Given the description of an element on the screen output the (x, y) to click on. 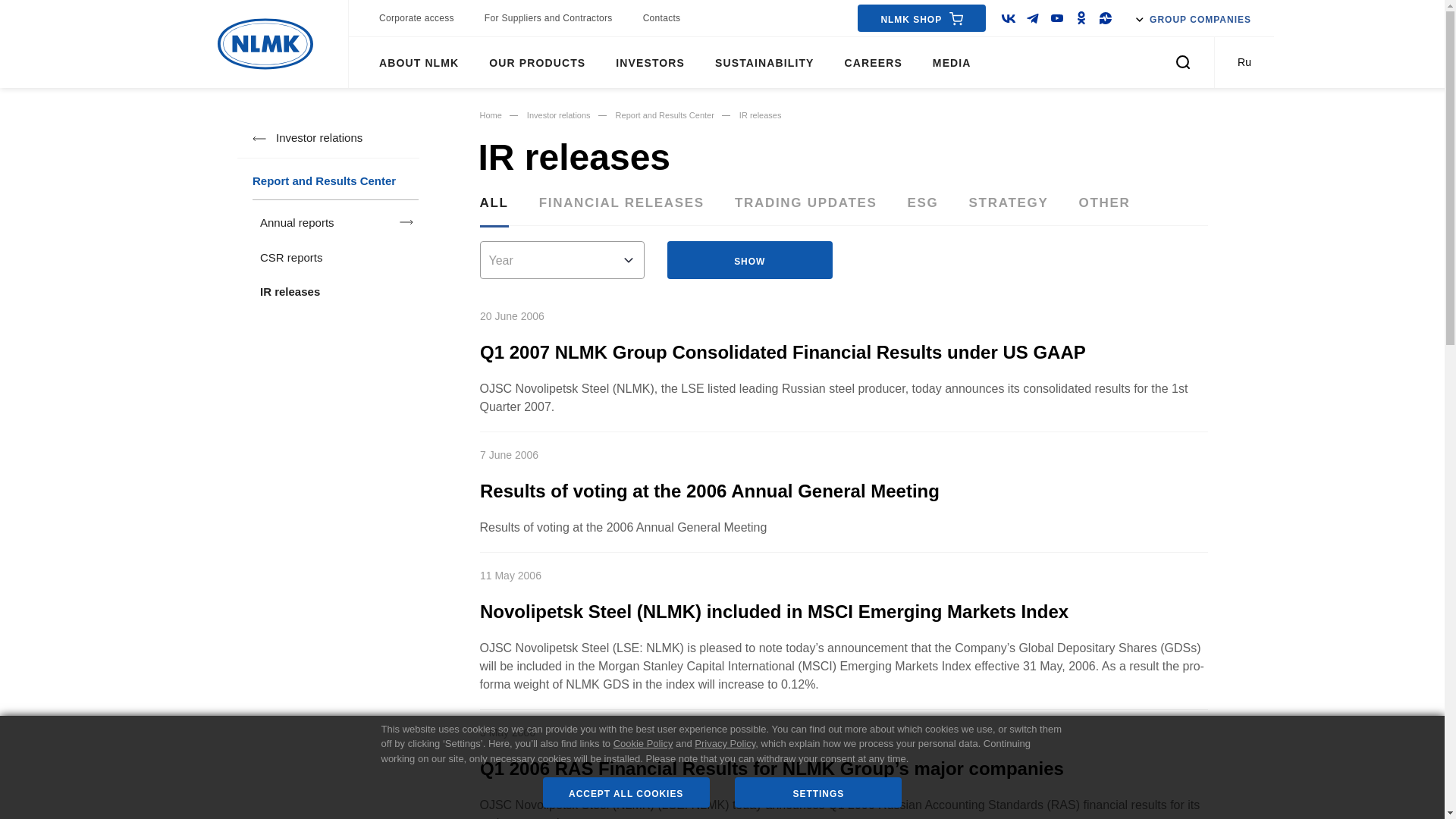
NLMK SHOP (921, 17)
Corporate access (416, 18)
CAREERS (873, 61)
Ru (1243, 62)
INVESTORS (650, 61)
SUSTAINABILITY (765, 61)
For Suppliers and Contractors (548, 18)
Contacts (662, 18)
MEDIA (951, 61)
